Given the description of an element on the screen output the (x, y) to click on. 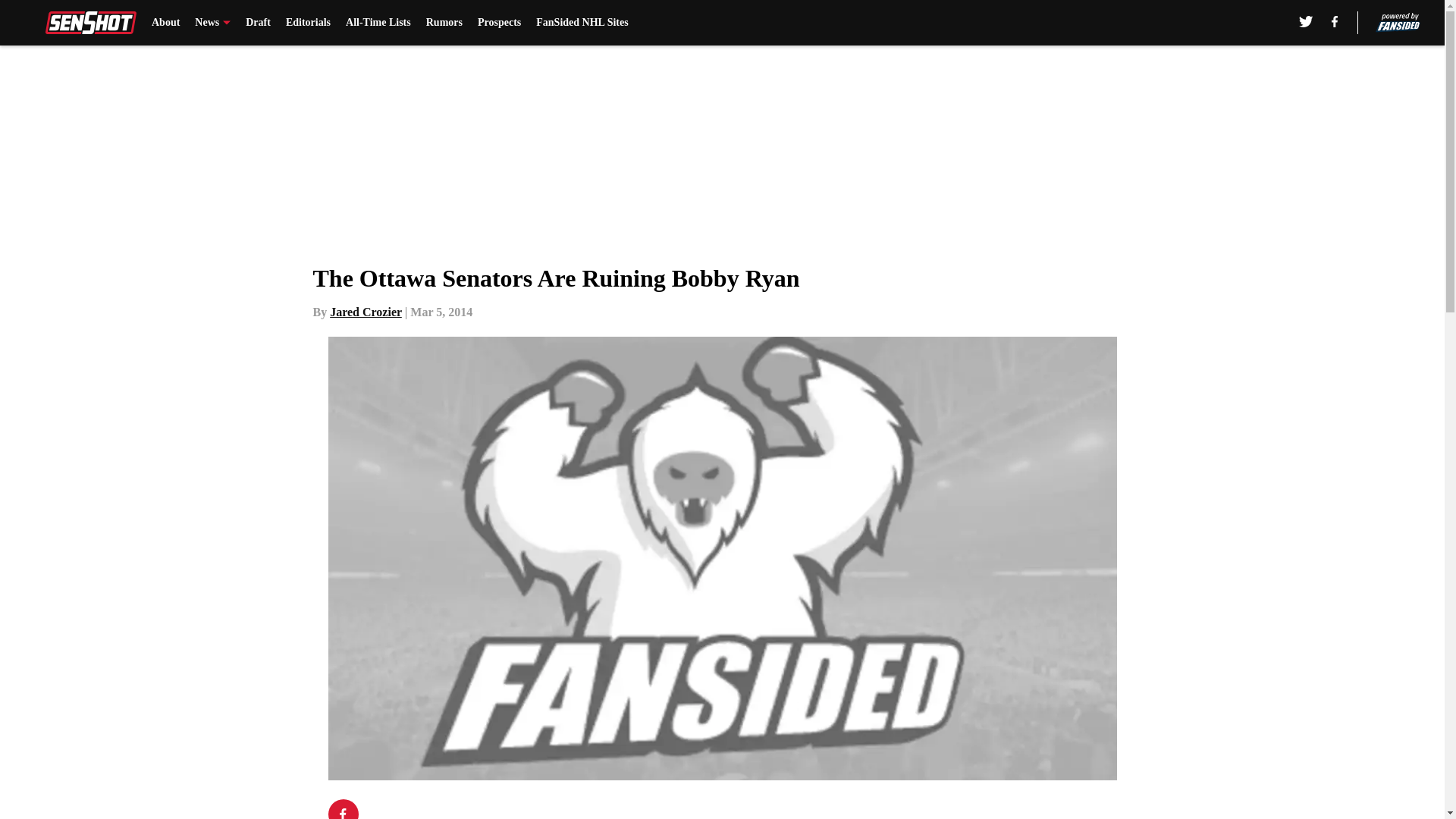
About (165, 22)
Jared Crozier (365, 311)
Prospects (499, 22)
Editorials (307, 22)
Draft (258, 22)
All-Time Lists (378, 22)
FanSided NHL Sites (581, 22)
Rumors (444, 22)
